Given the description of an element on the screen output the (x, y) to click on. 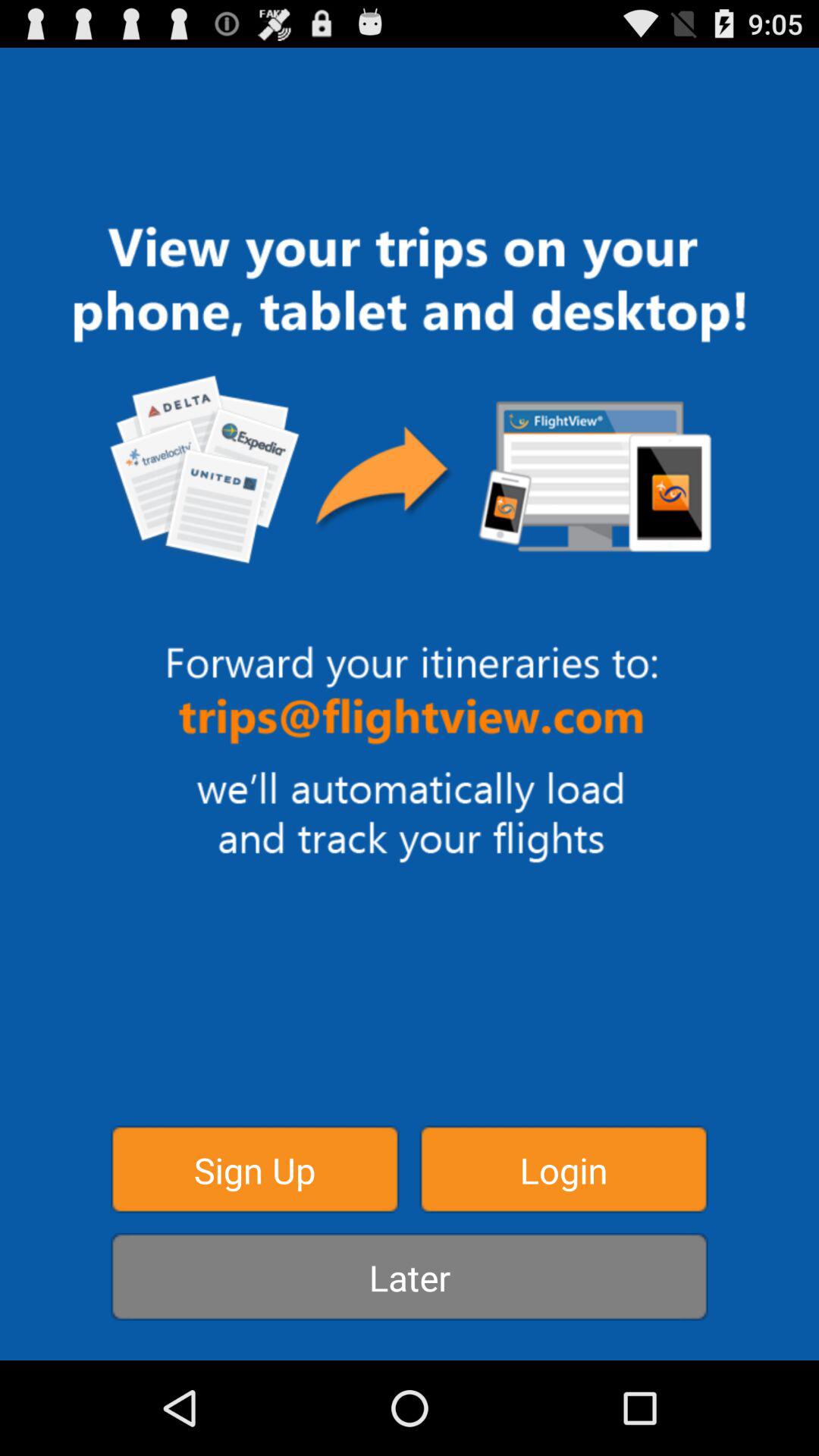
swipe to login icon (563, 1169)
